Given the description of an element on the screen output the (x, y) to click on. 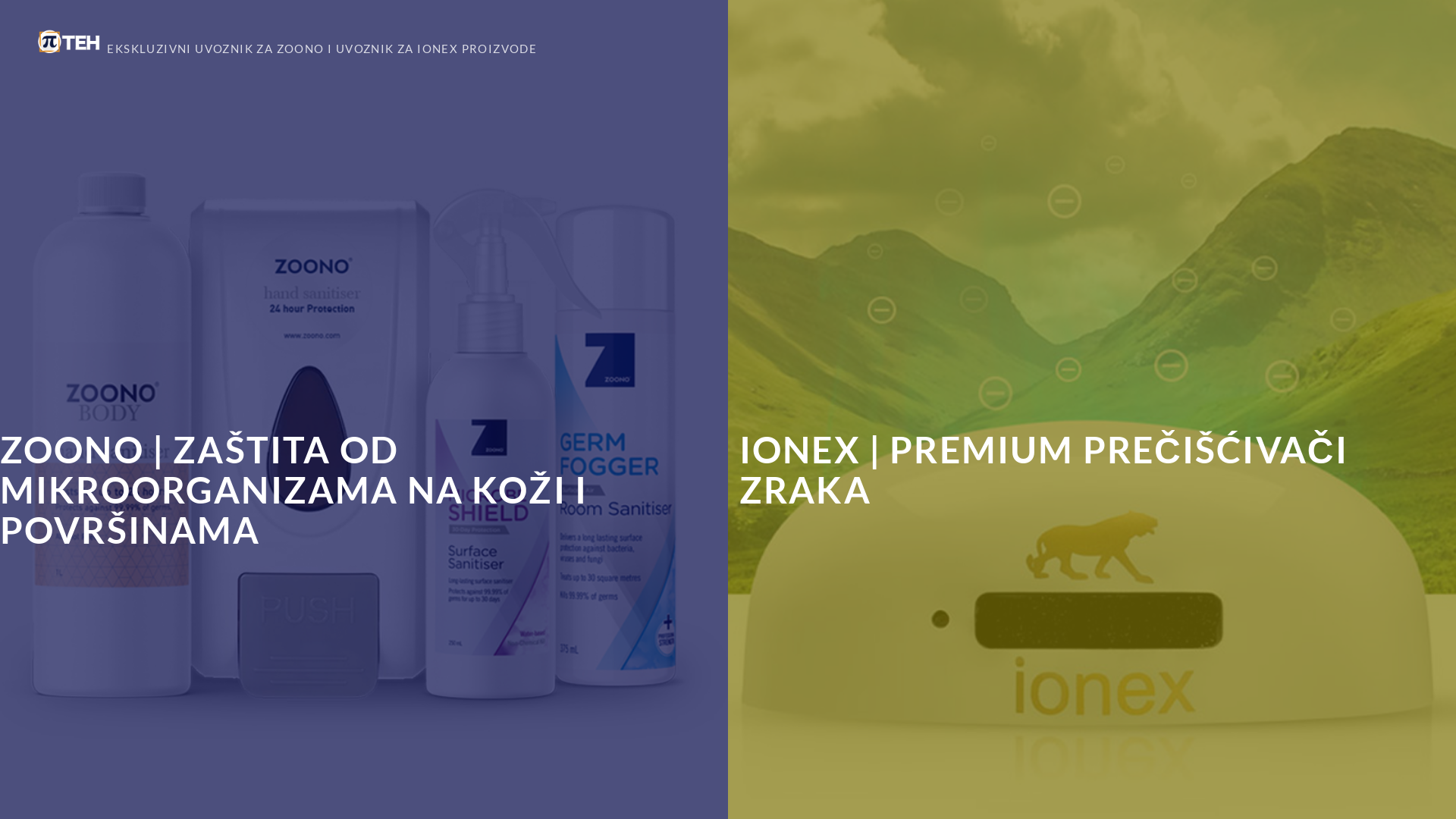
EKSKLUZIVNI UVOZNIK ZA ZOONO I UVOZNIK ZA IONEX PROIZVODE Element type: text (286, 40)
